Given the description of an element on the screen output the (x, y) to click on. 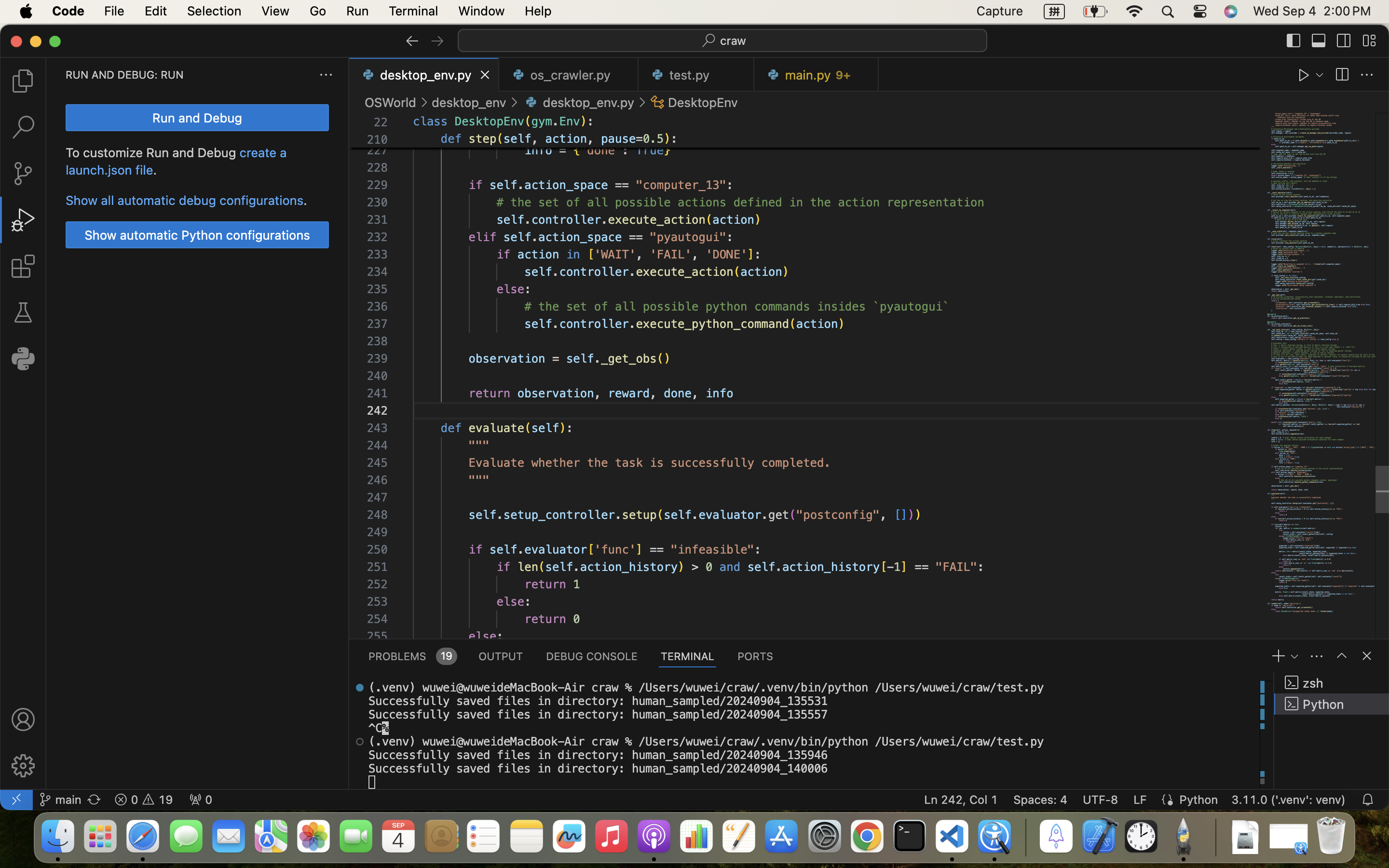
 Element type: AXStaticText (403, 120)
pause Element type: AXStaticText (618, 138)
 Element type: AXStaticText (359, 741)
 Element type: AXStaticText (359, 687)
OSWorld Element type: AXGroup (390, 101)
